Given the description of an element on the screen output the (x, y) to click on. 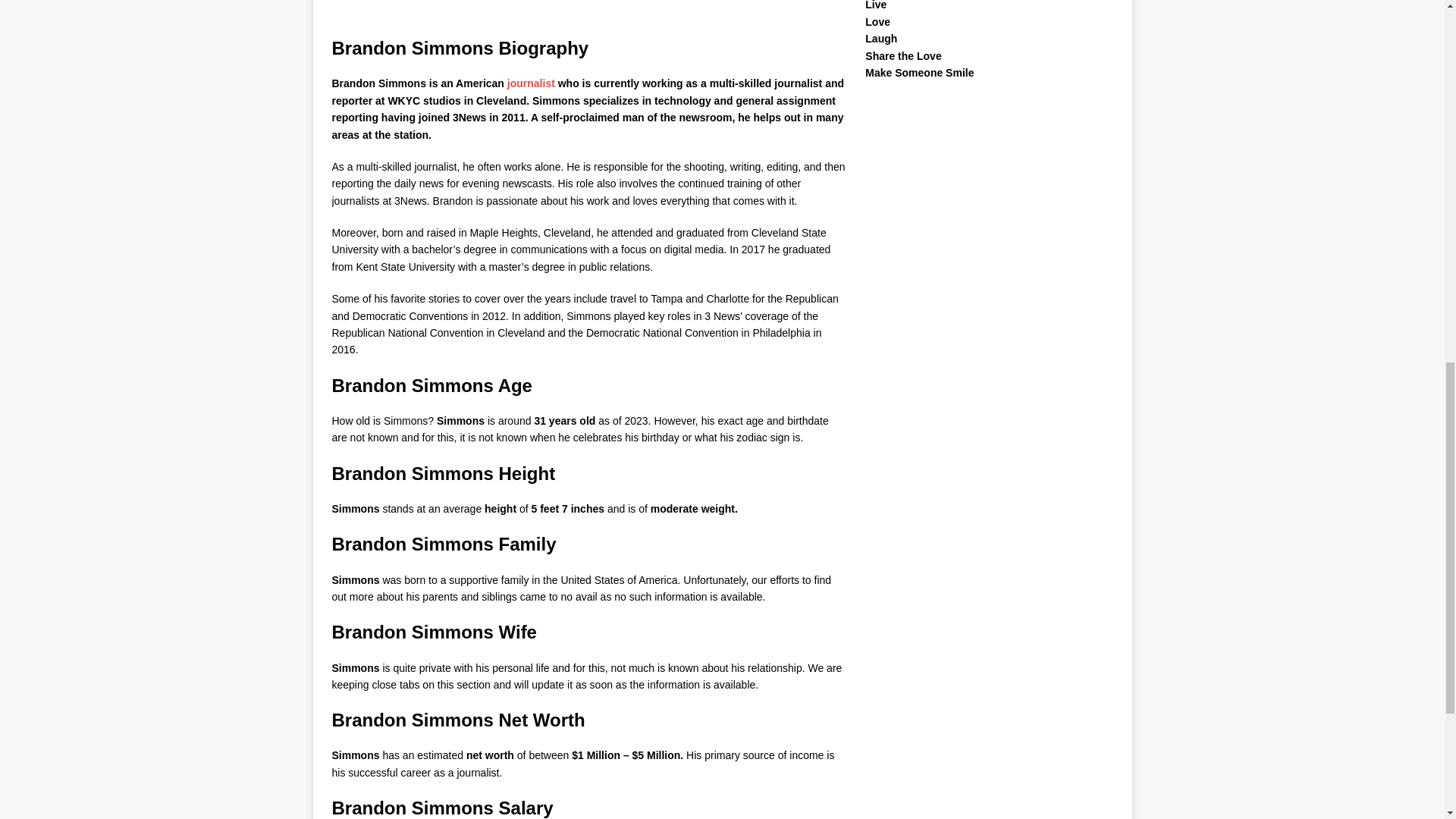
Advertisement (588, 18)
journalist (531, 82)
